Given the description of an element on the screen output the (x, y) to click on. 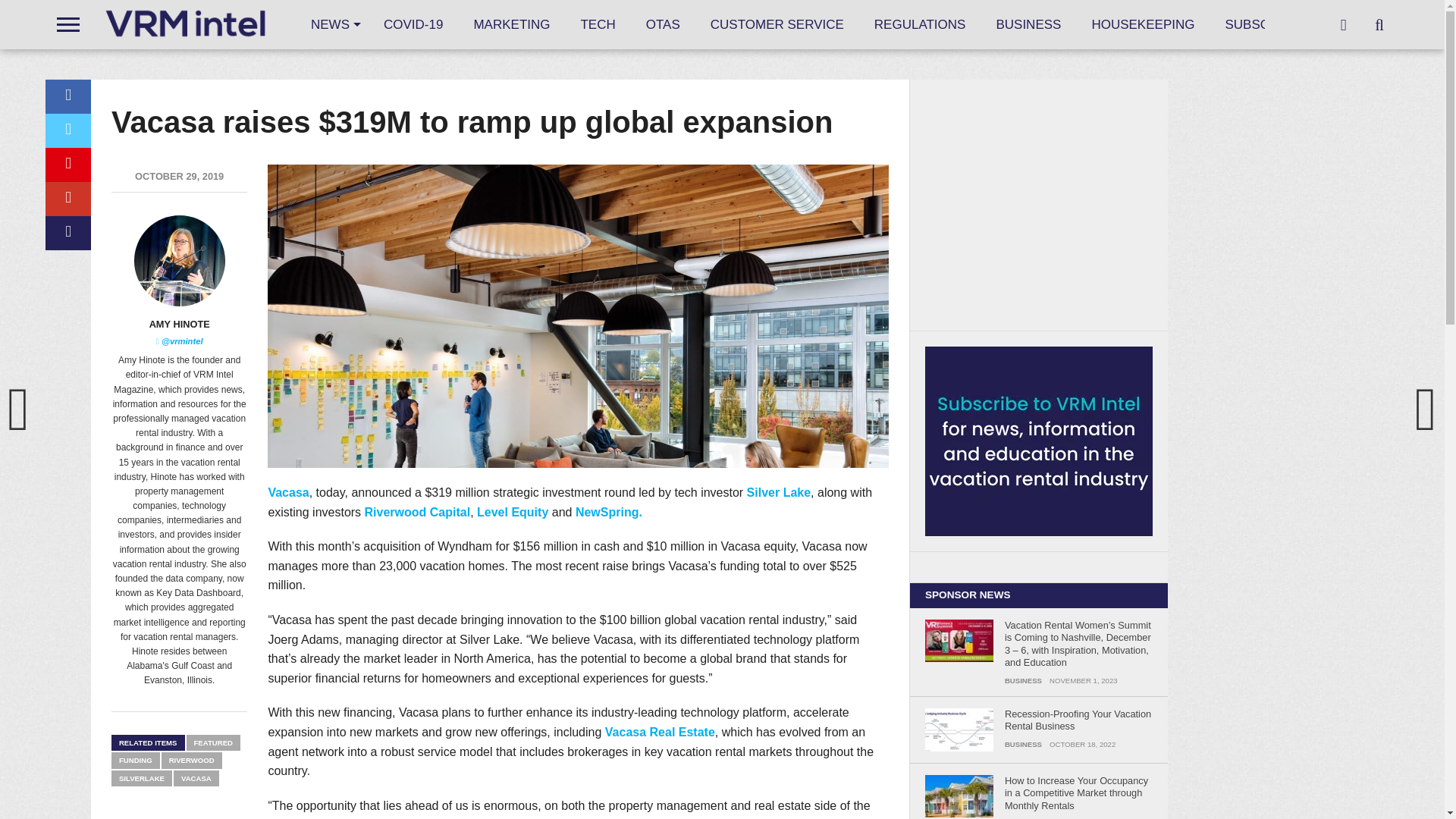
NEWS (331, 24)
Pin This Post (67, 164)
COVID-19 (413, 24)
Tweet This Post (67, 130)
Posts by Amy Hinote (179, 324)
Share on Facebook (67, 96)
